Given the description of an element on the screen output the (x, y) to click on. 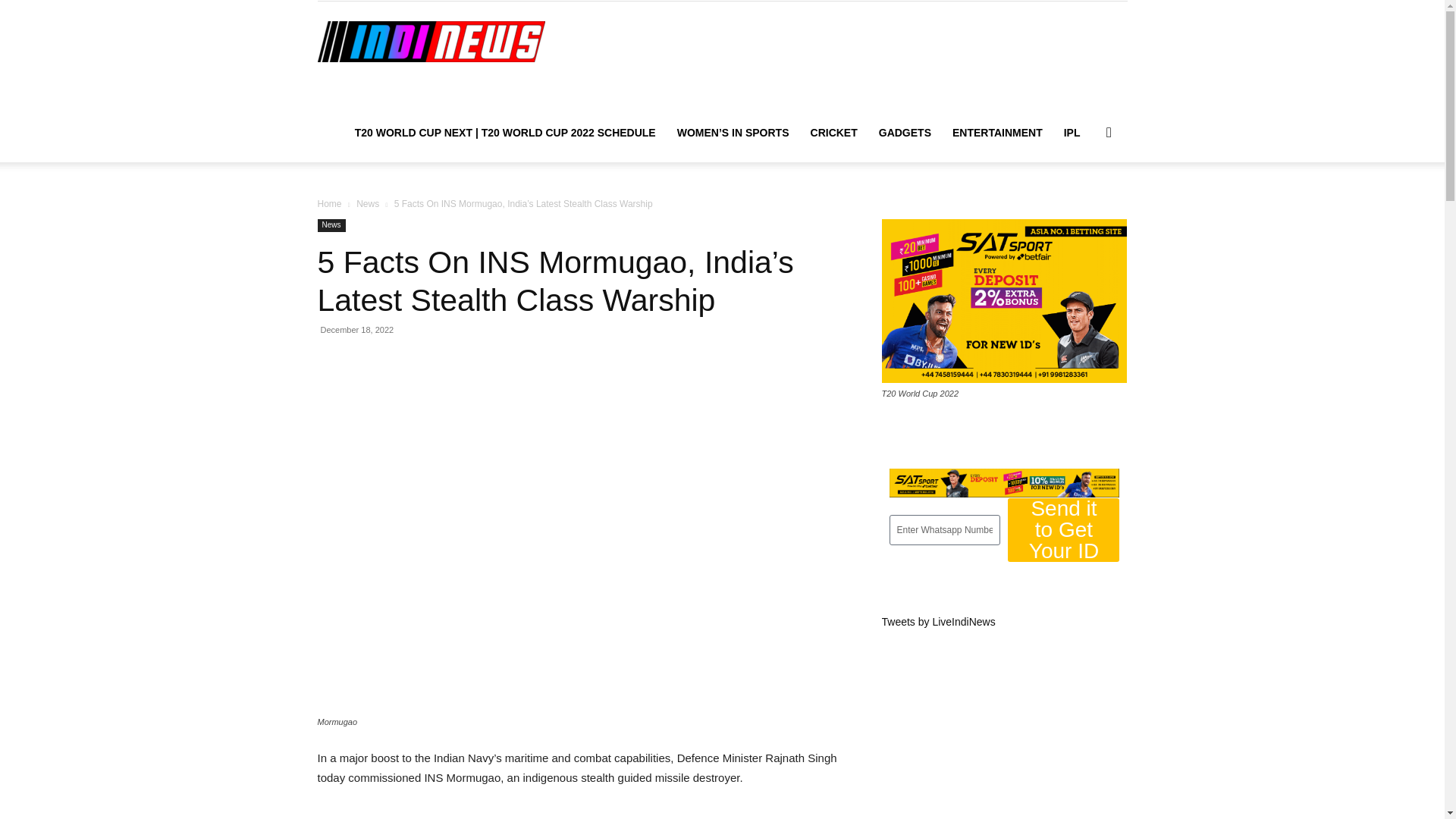
ENTERTAINMENT (997, 132)
IndiNews (430, 41)
Search (1085, 204)
GADGETS (904, 132)
View all posts in News (367, 204)
CRICKET (833, 132)
